Given the description of an element on the screen output the (x, y) to click on. 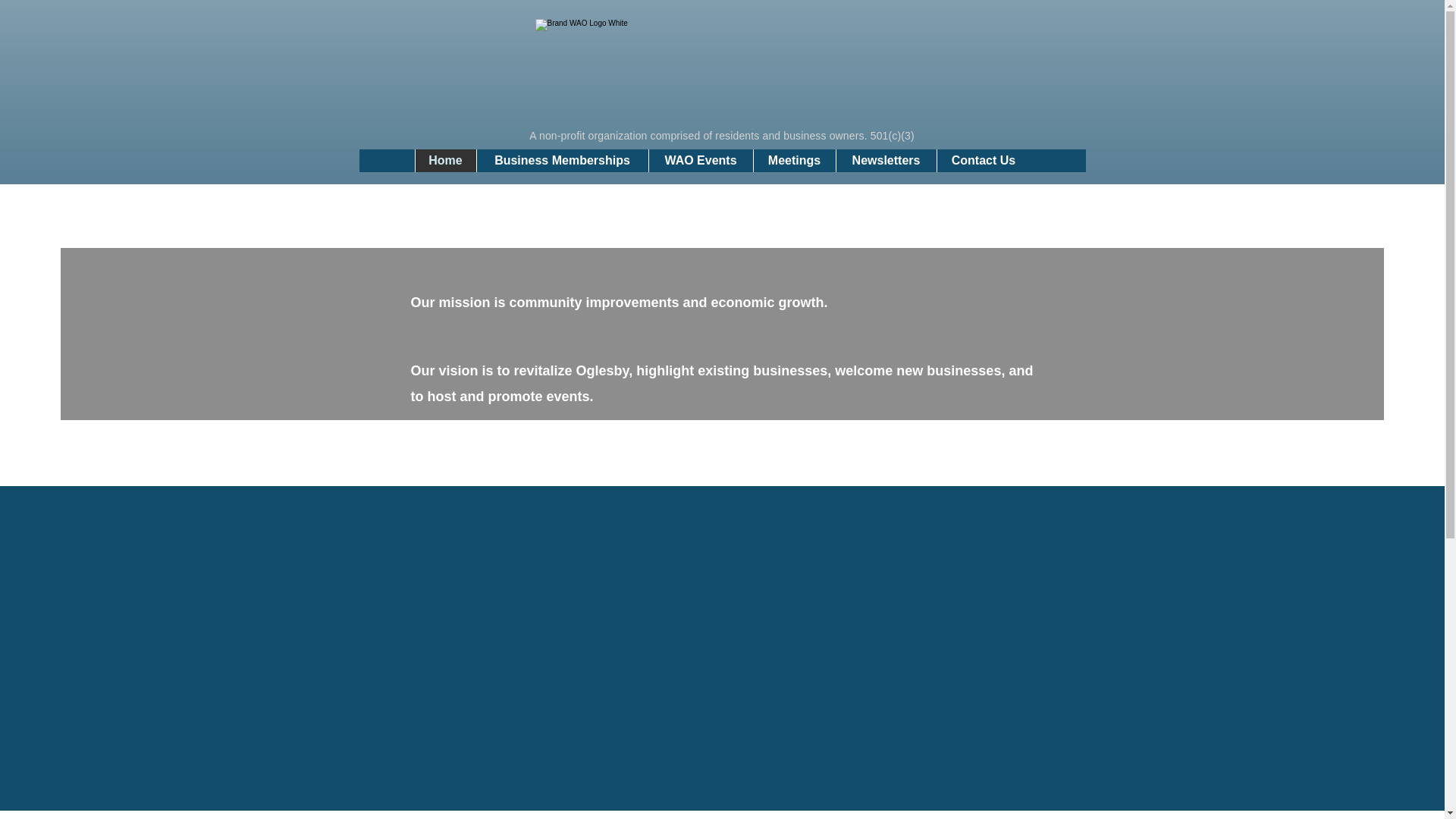
Home (444, 160)
Brand WAO Logo.png (722, 63)
WAO Events (699, 160)
